Given the description of an element on the screen output the (x, y) to click on. 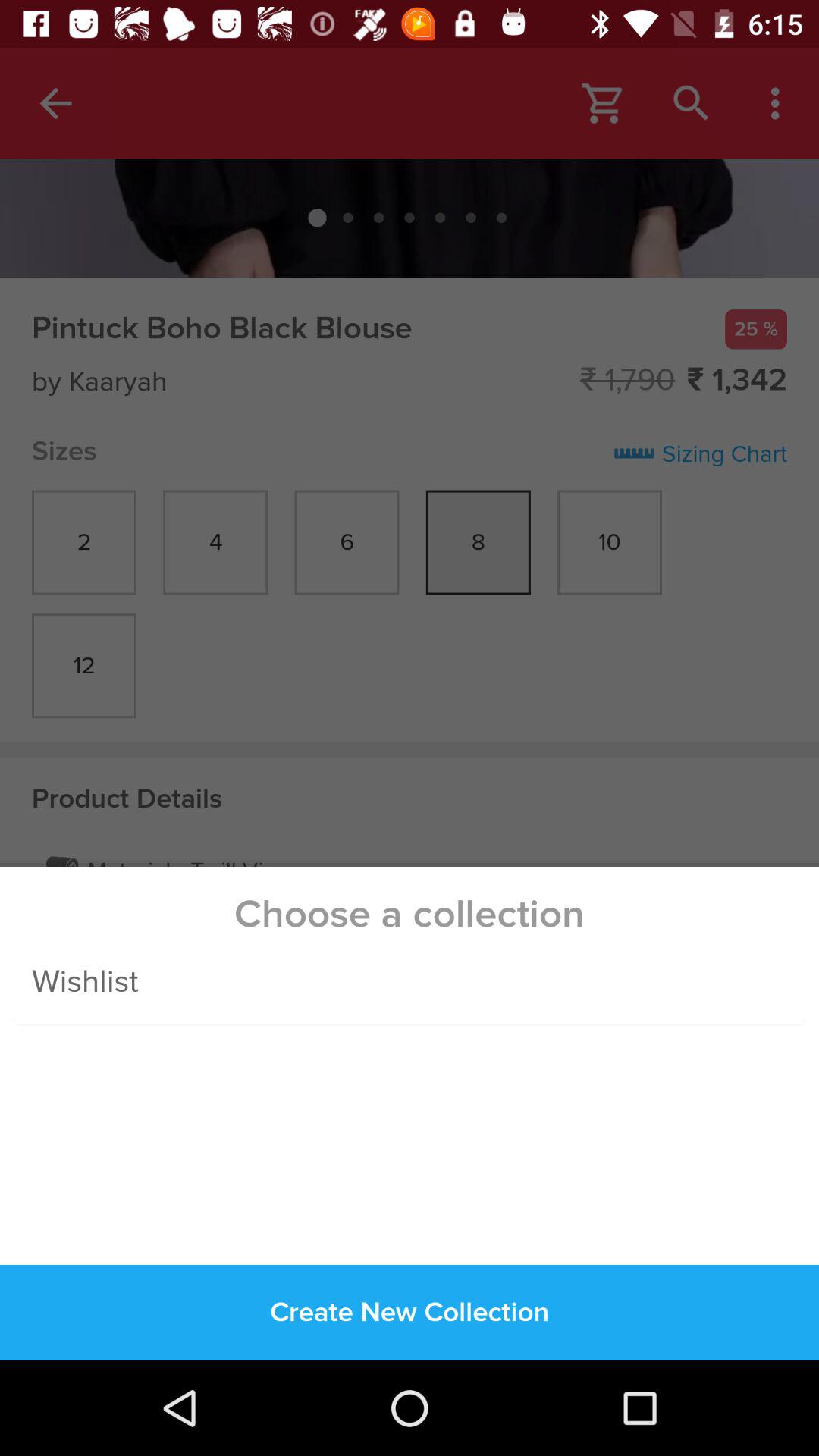
scroll to the create new collection item (409, 1312)
